Given the description of an element on the screen output the (x, y) to click on. 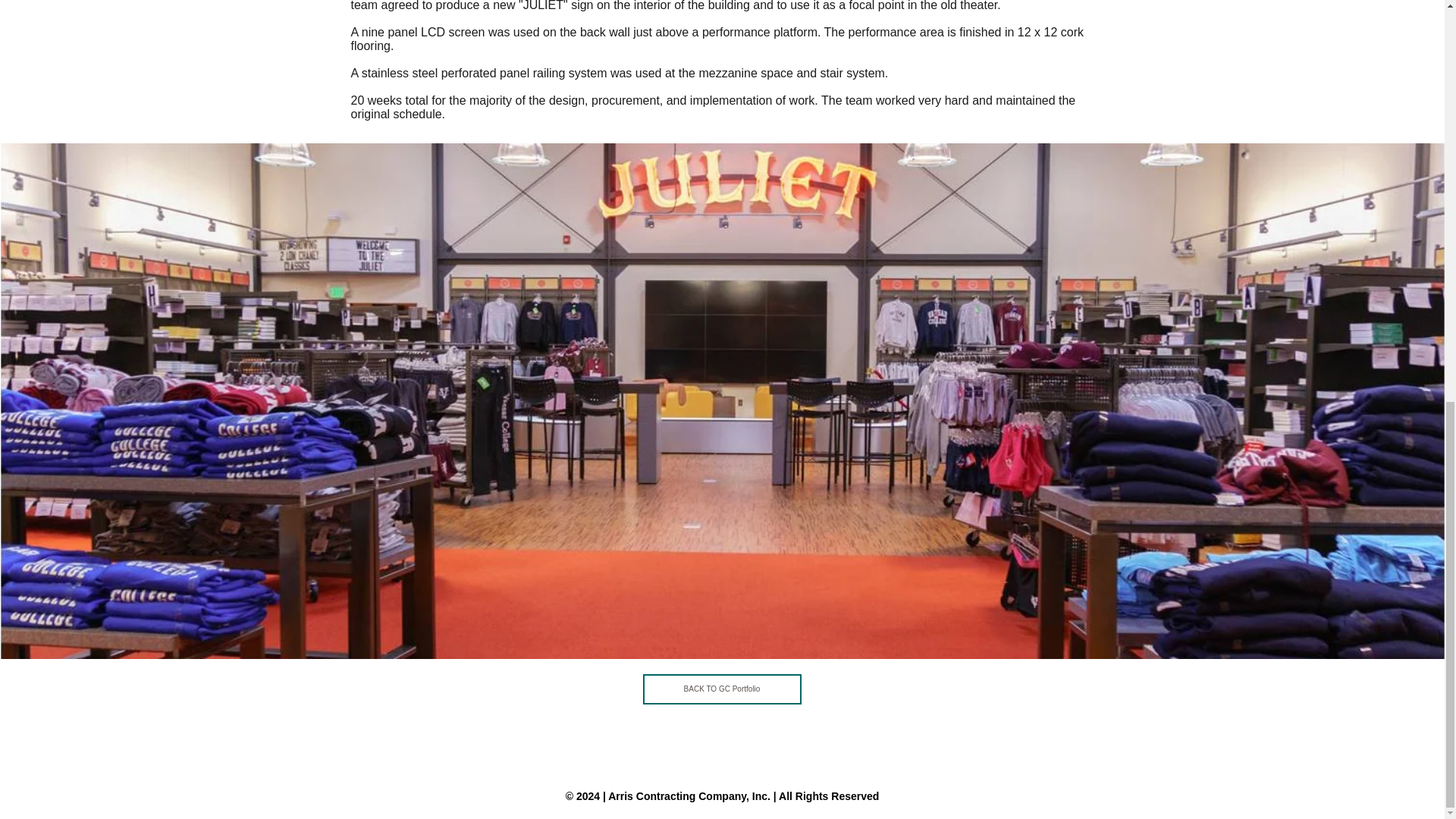
BACK TO GC Portfolio (722, 689)
